Given the description of an element on the screen output the (x, y) to click on. 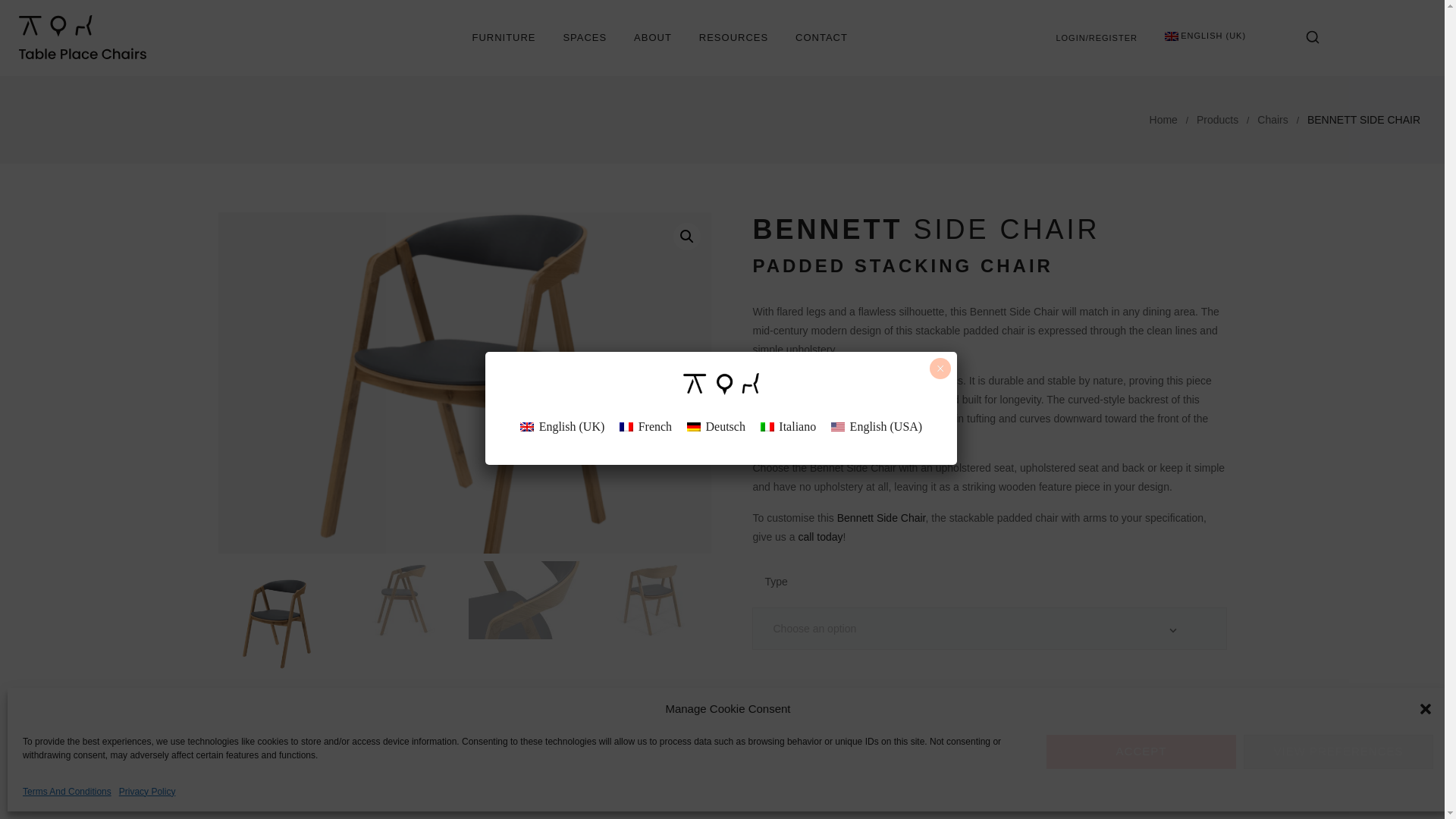
Terms And Conditions (67, 791)
Privacy Policy (147, 791)
VIEW PREFERENCES (1337, 751)
ACCEPT (1141, 751)
